Given the description of an element on the screen output the (x, y) to click on. 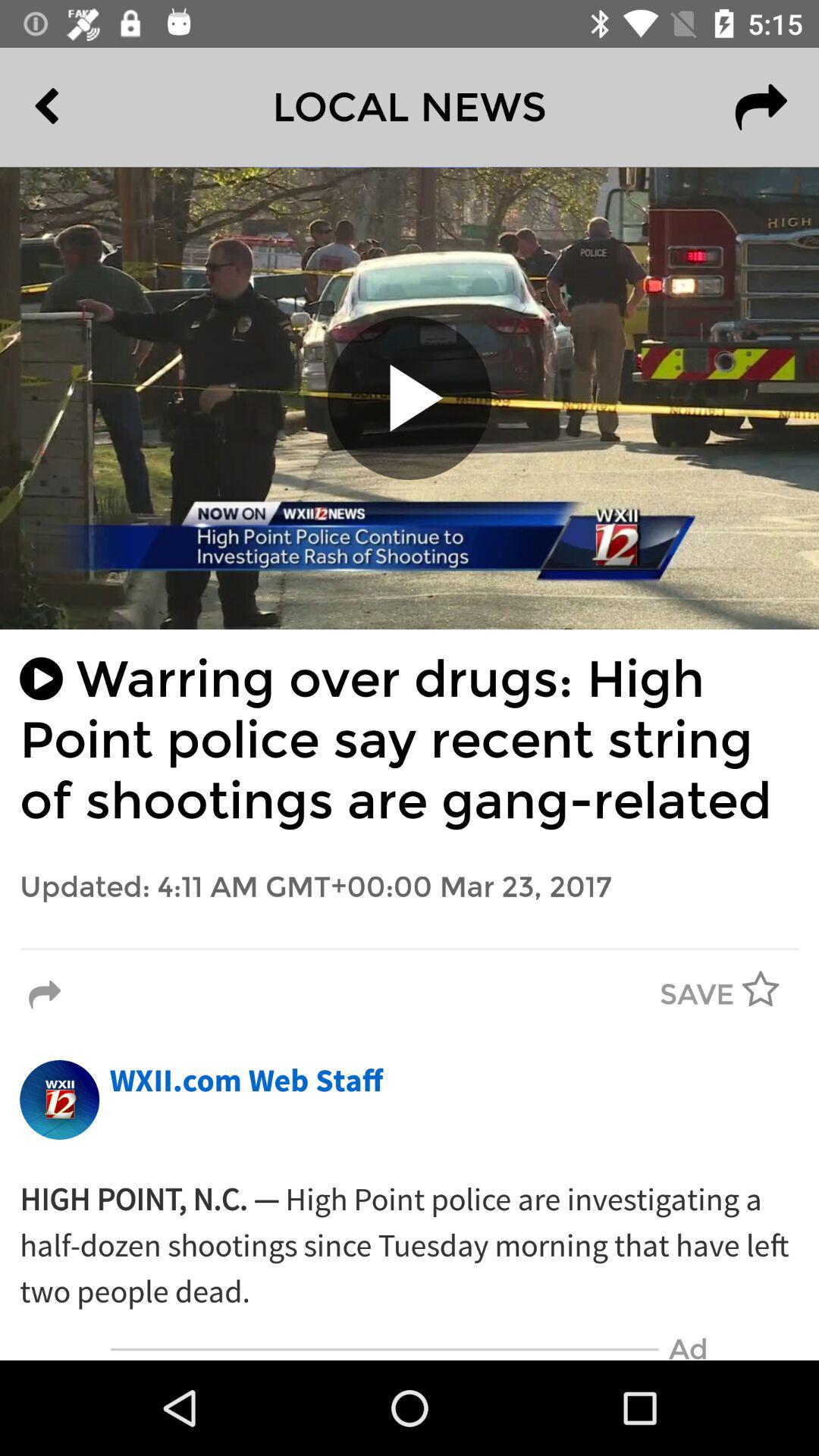
open item next to the ad icon (384, 1349)
